Given the description of an element on the screen output the (x, y) to click on. 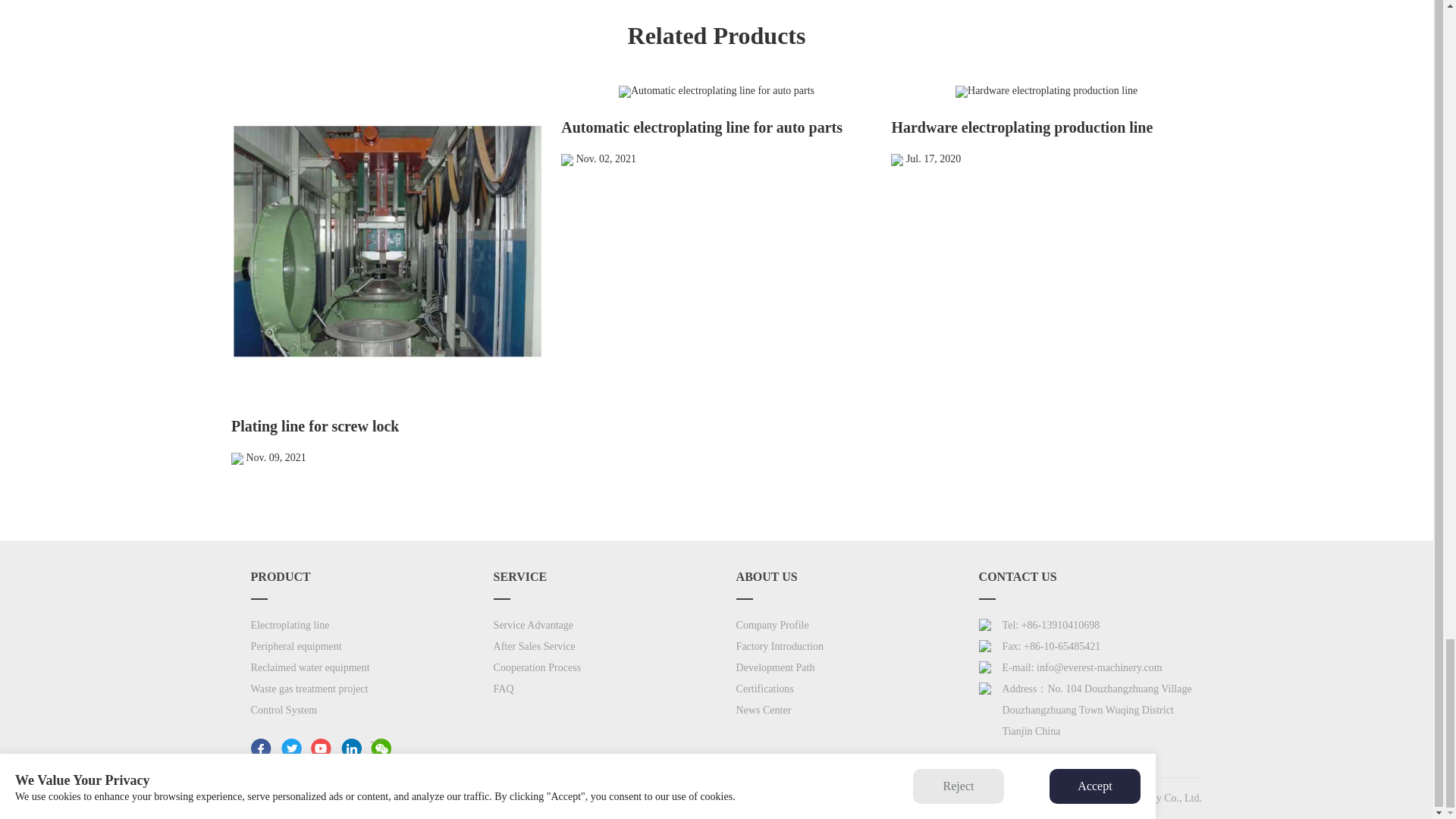
Hardware electroplating production line (1046, 125)
Automatic electroplating line for auto parts (715, 91)
Hardware electroplating production line (1046, 91)
Plating line for screw lock (386, 240)
Automatic electroplating line for auto parts (716, 125)
